Given the description of an element on the screen output the (x, y) to click on. 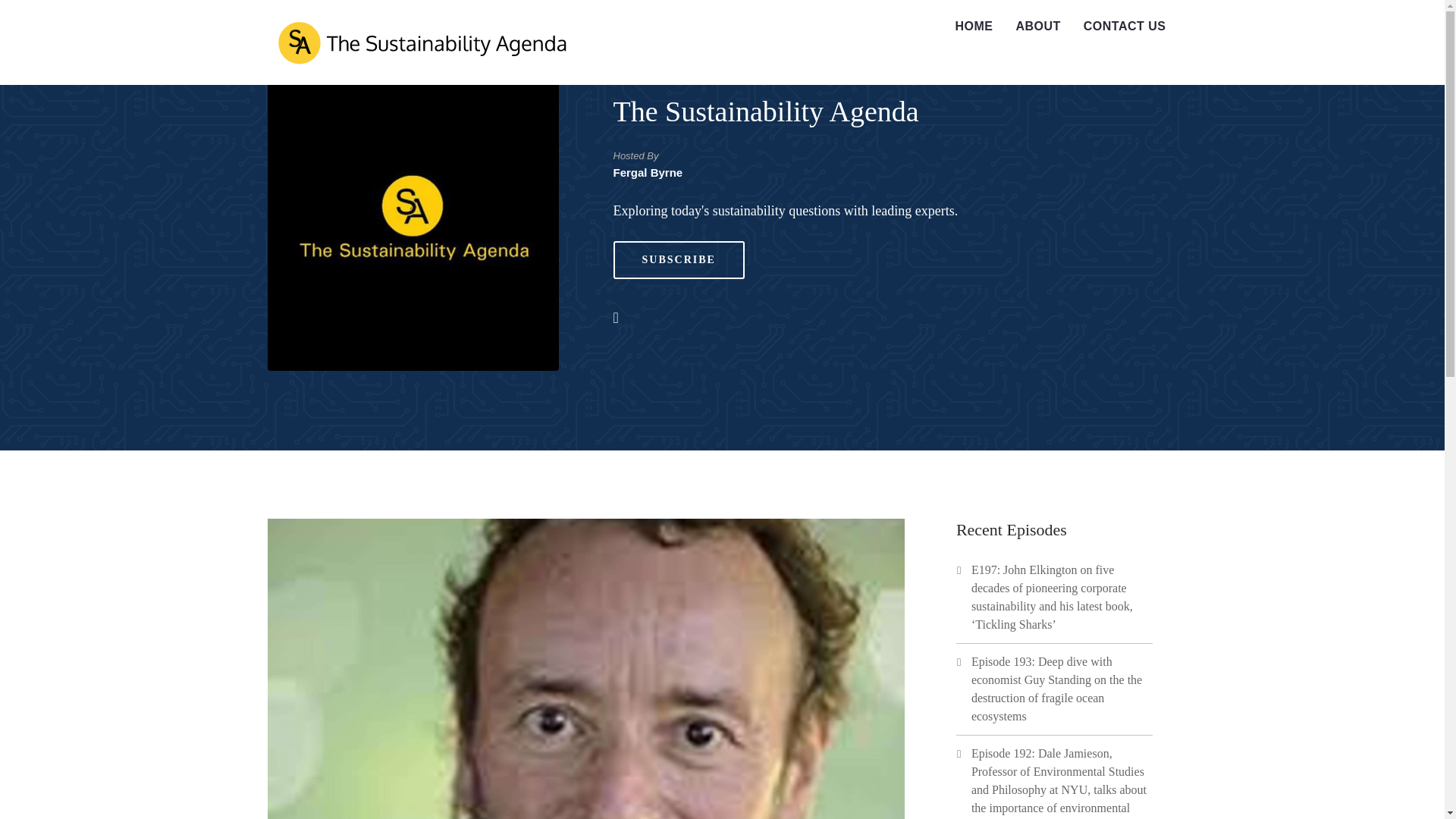
The Sustainability Agenda (765, 111)
CONTACT US (1124, 26)
HOME (973, 26)
SUBSCRIBE (678, 259)
twitter (623, 317)
ABOUT (1037, 26)
The Sustainability Agenda (419, 42)
